Given the description of an element on the screen output the (x, y) to click on. 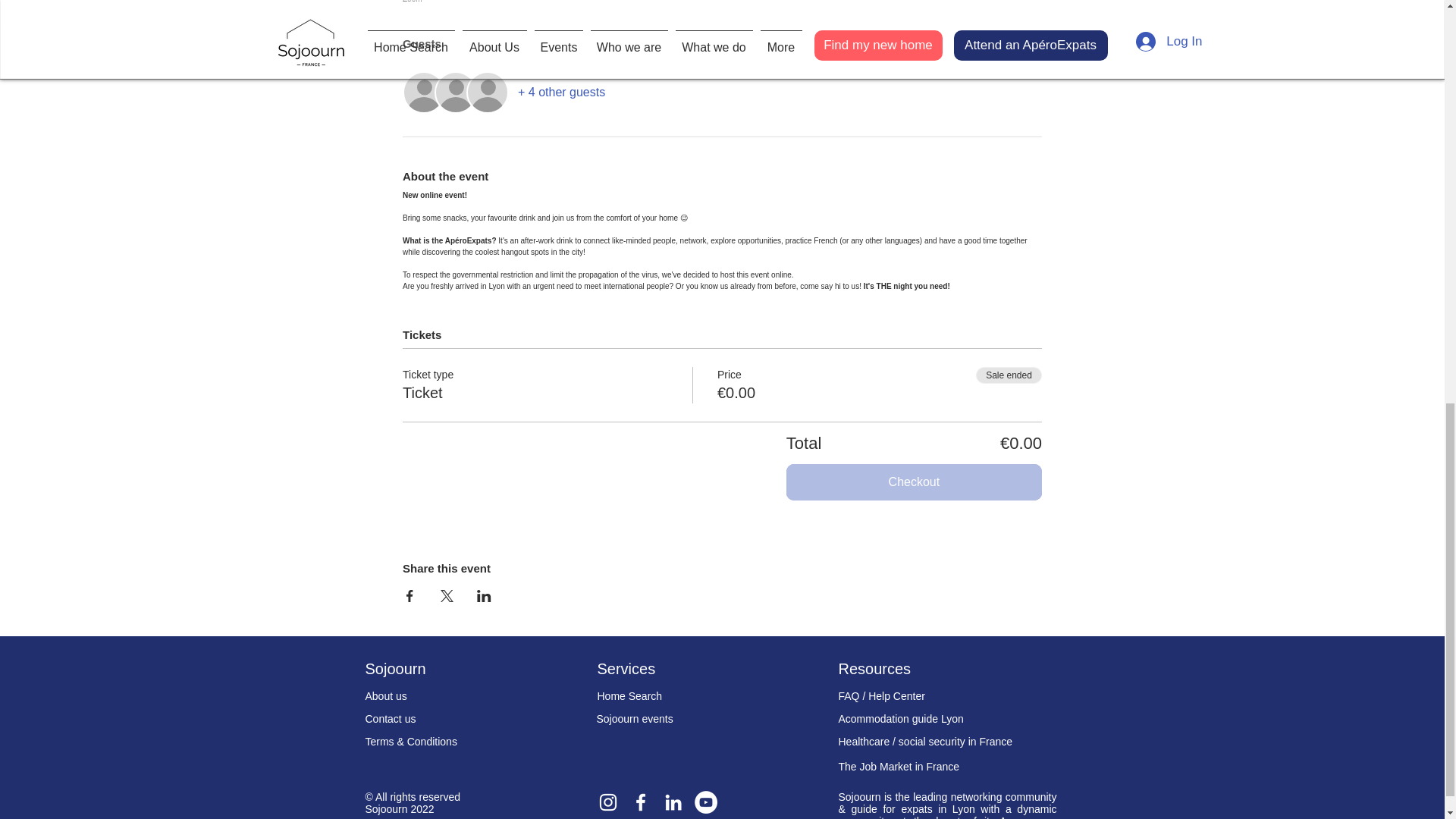
Sojoourn events (633, 718)
Contact us (390, 718)
Home Search (629, 695)
Checkout (914, 482)
About us (386, 695)
